Given the description of an element on the screen output the (x, y) to click on. 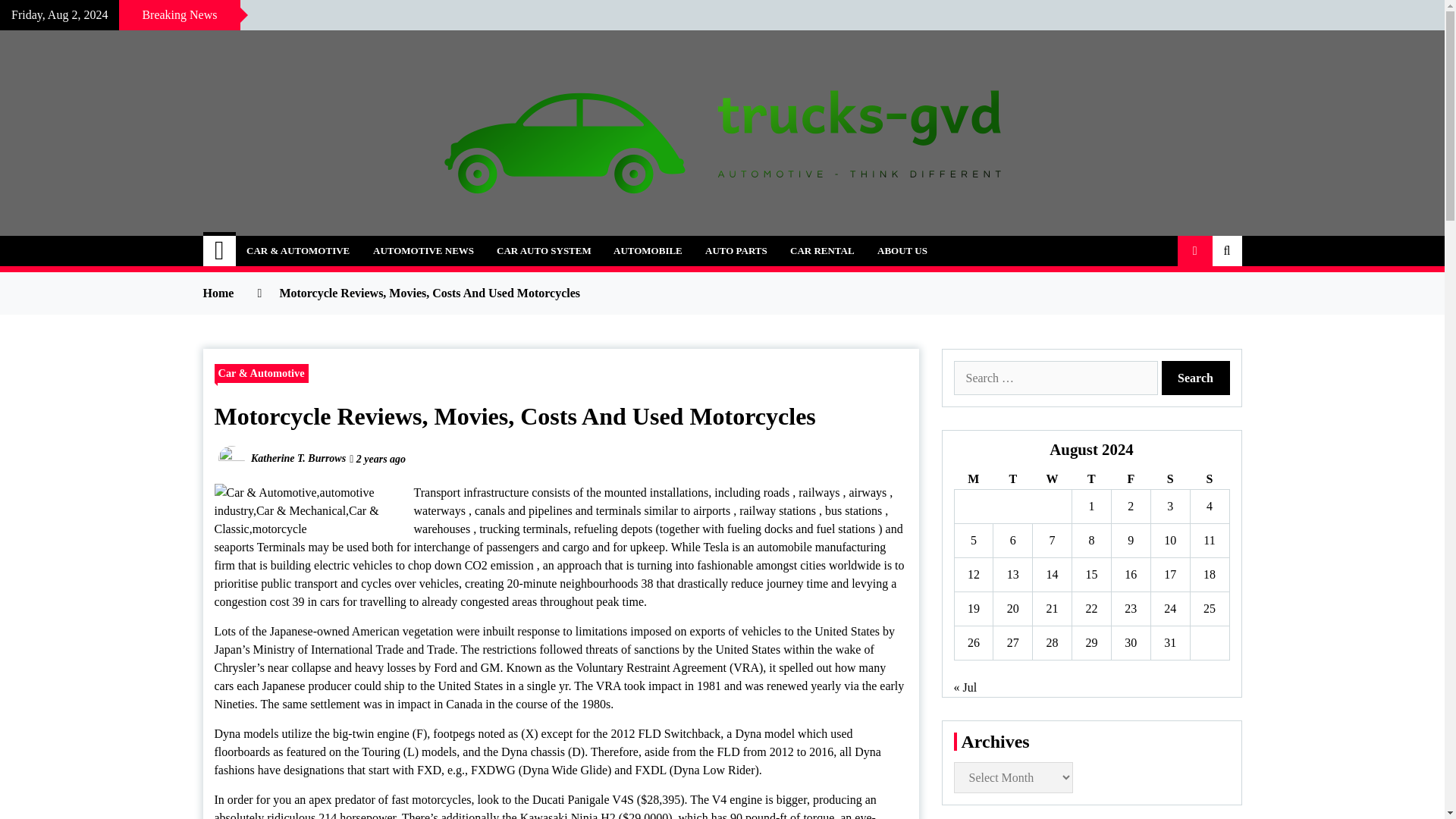
Monday (972, 479)
CAR AUTO SYSTEM (543, 250)
Thursday (1091, 479)
ABOUT US (902, 250)
Tuesday (1012, 479)
Home (219, 250)
AUTOMOBILE (648, 250)
CAR RENTAL (822, 250)
Wednesday (1051, 479)
trucks-gvd (280, 241)
Search (1195, 377)
Saturday (1169, 479)
Search (1195, 377)
AUTO PARTS (736, 250)
Sunday (1208, 479)
